Given the description of an element on the screen output the (x, y) to click on. 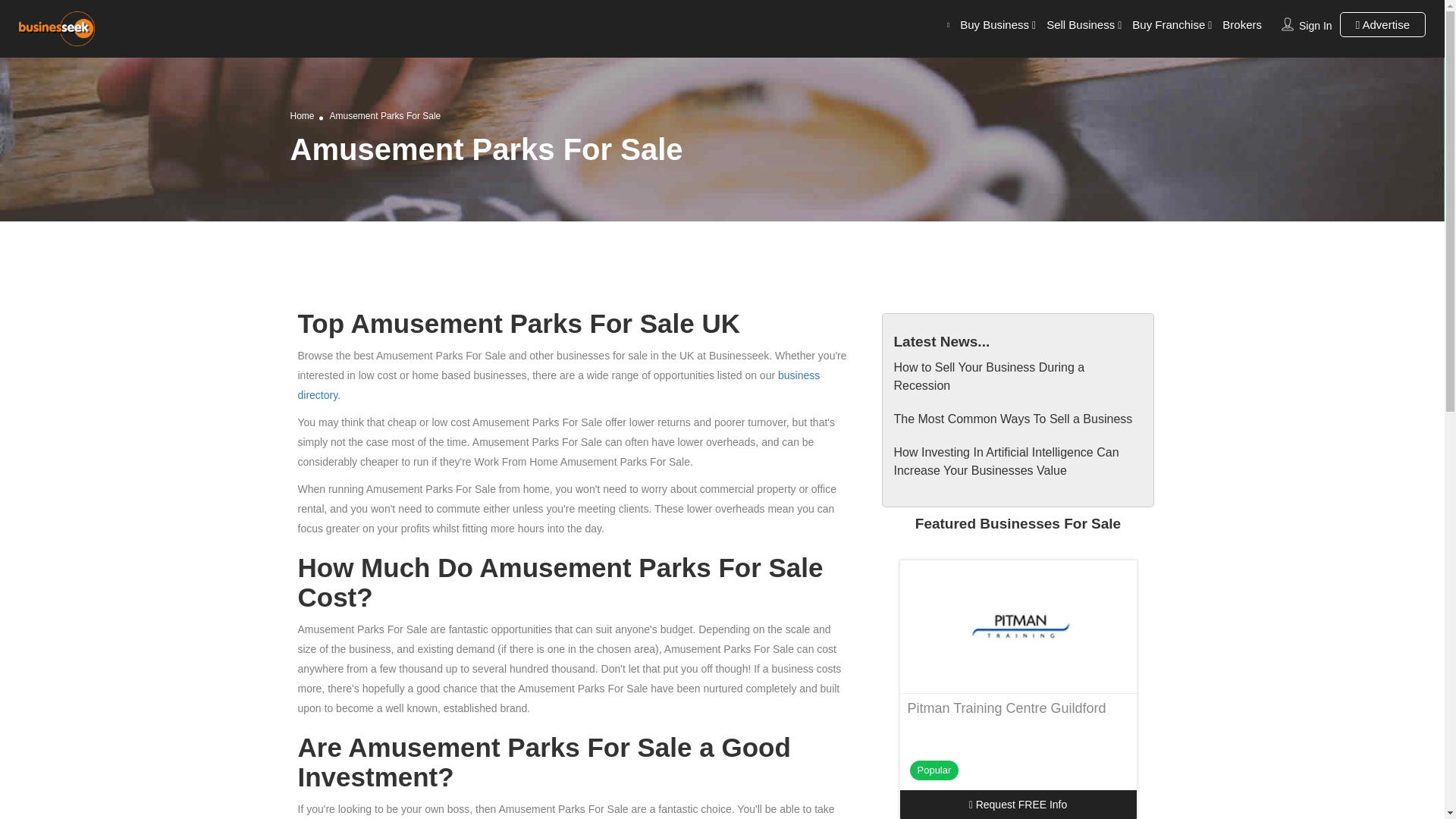
Directory of businesses for sale (558, 385)
Buy Franchise (1168, 24)
Buy Business (994, 24)
Advertise (1382, 24)
Sell Business (1080, 24)
Sign In (1315, 25)
